Given the description of an element on the screen output the (x, y) to click on. 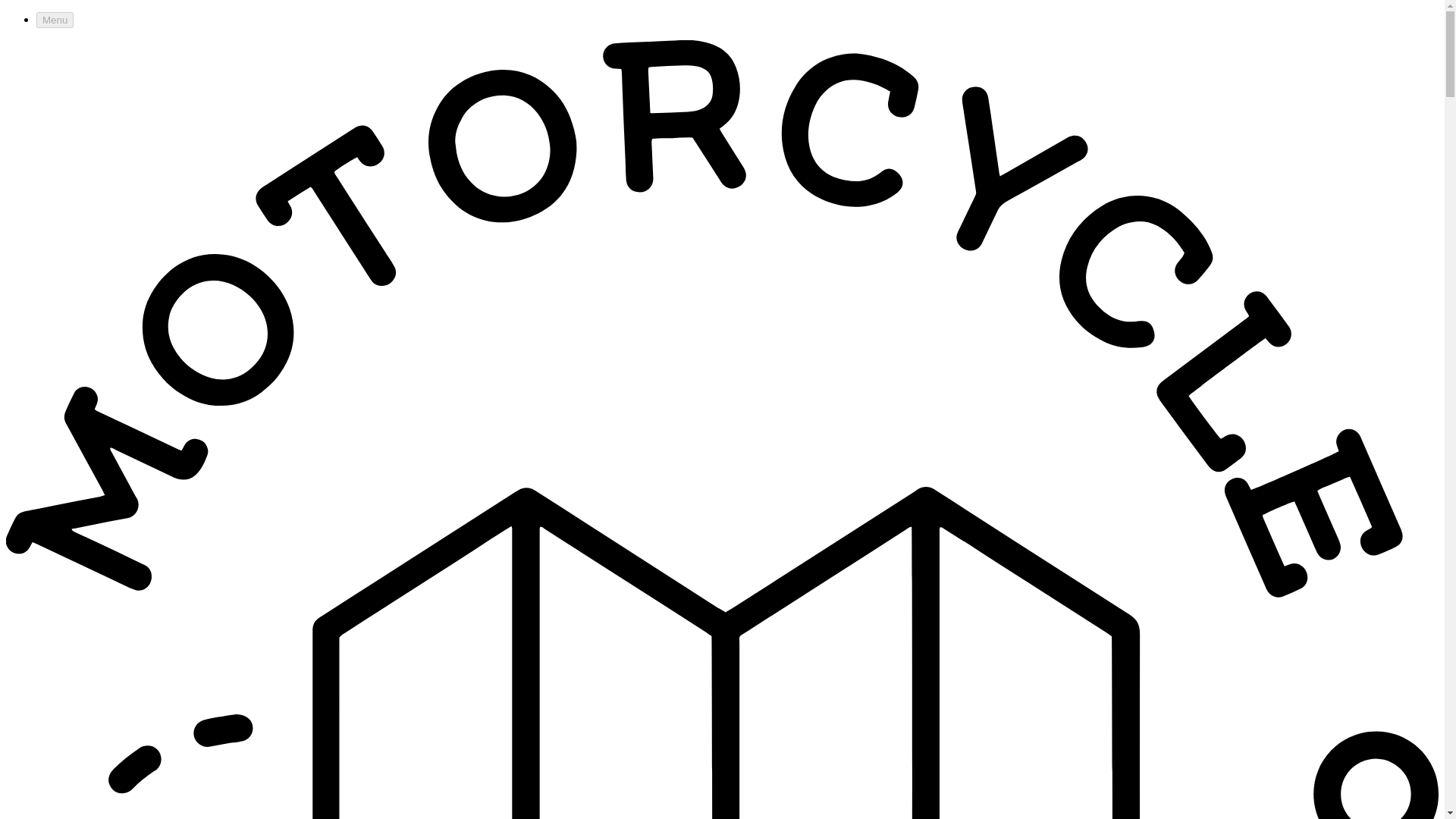
Menu (55, 19)
